Given the description of an element on the screen output the (x, y) to click on. 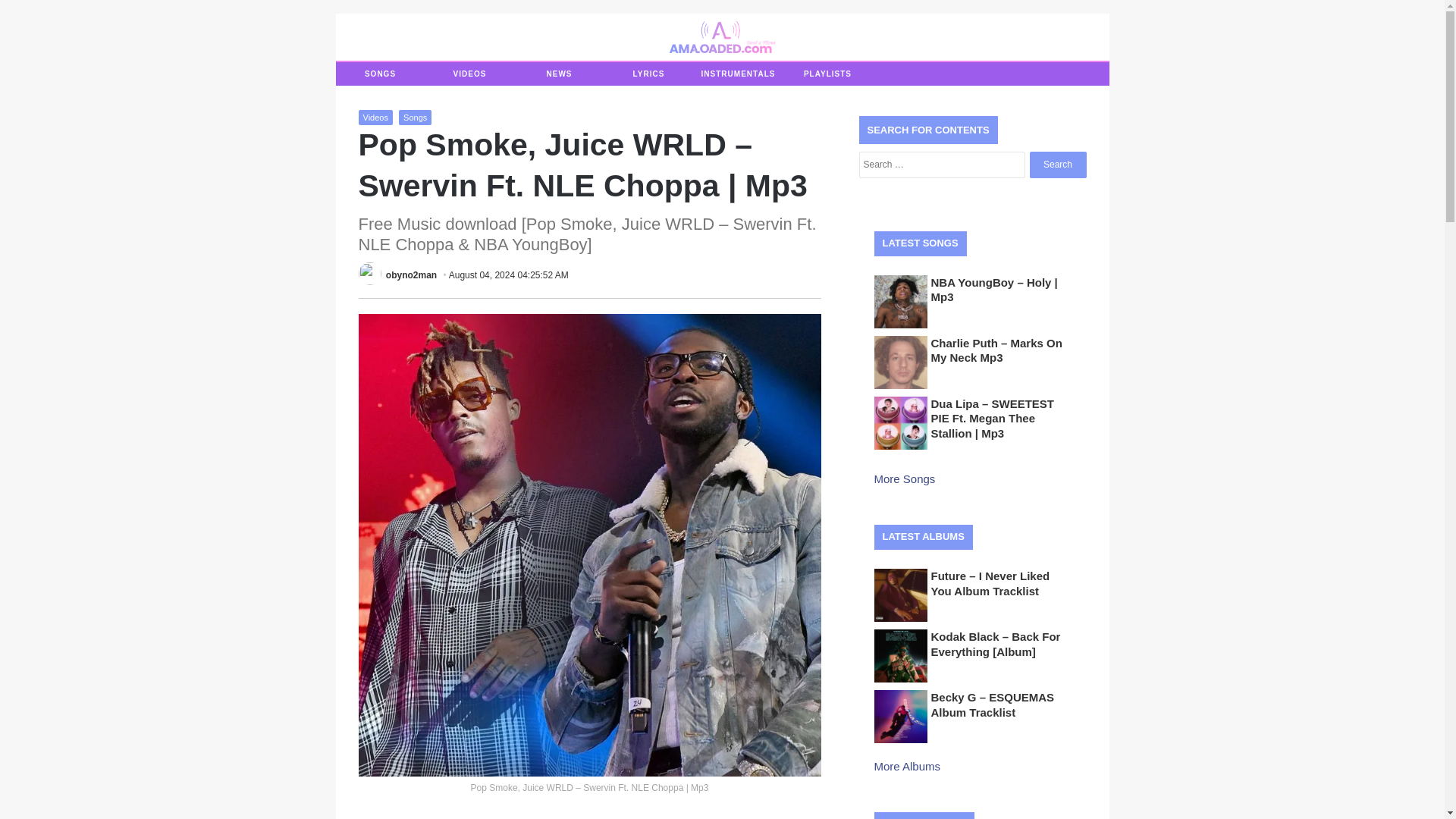
SONGS (379, 73)
LYRICS (648, 73)
Search (1057, 164)
obyno2man (410, 275)
INSTRUMENTALS (738, 73)
Songs (414, 117)
PLAYLISTS (827, 73)
Search (1057, 164)
VIDEOS (469, 73)
Posts by obyno2man (410, 275)
